Given the description of an element on the screen output the (x, y) to click on. 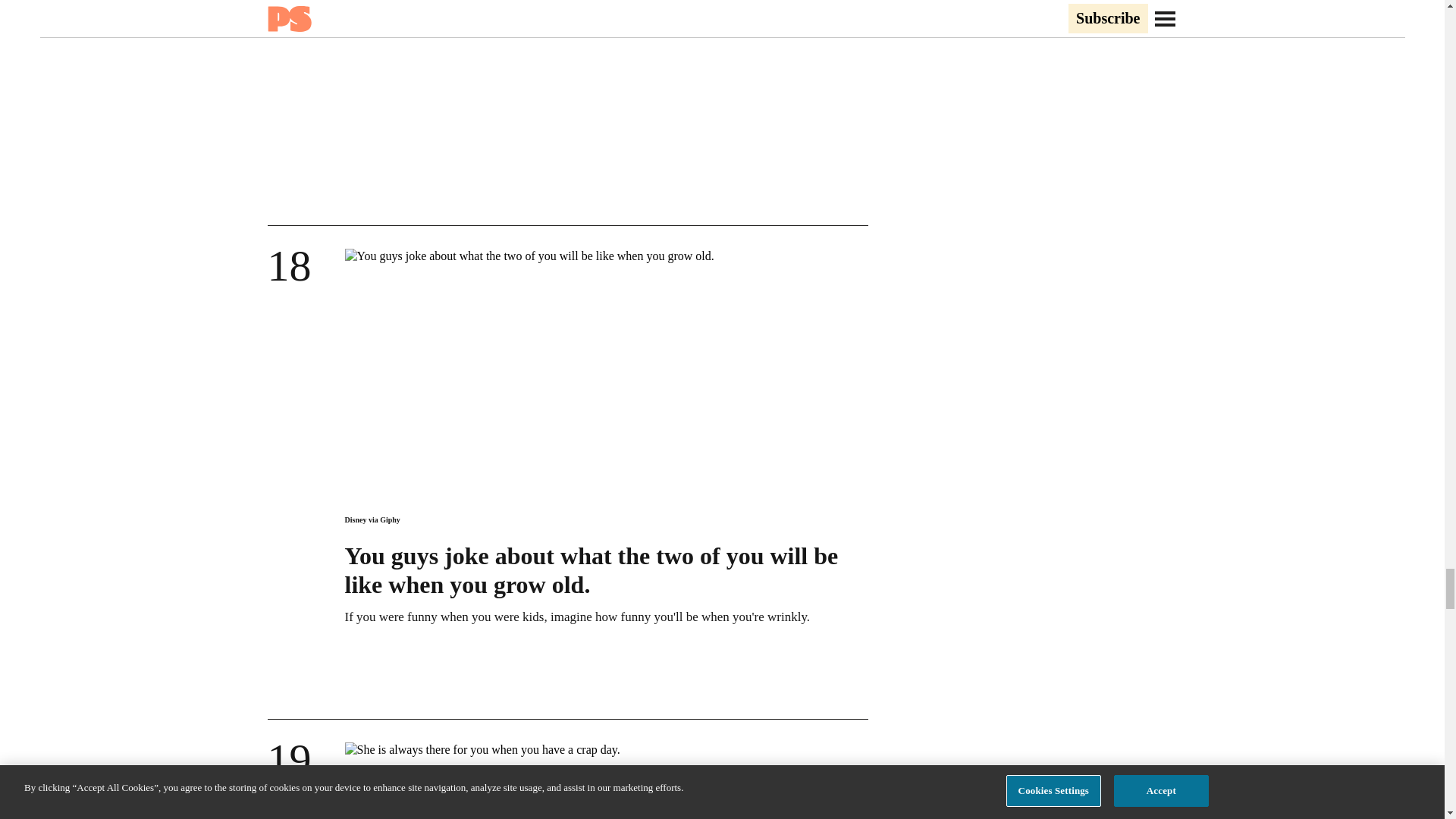
Disney via Giphy (370, 519)
